Given the description of an element on the screen output the (x, y) to click on. 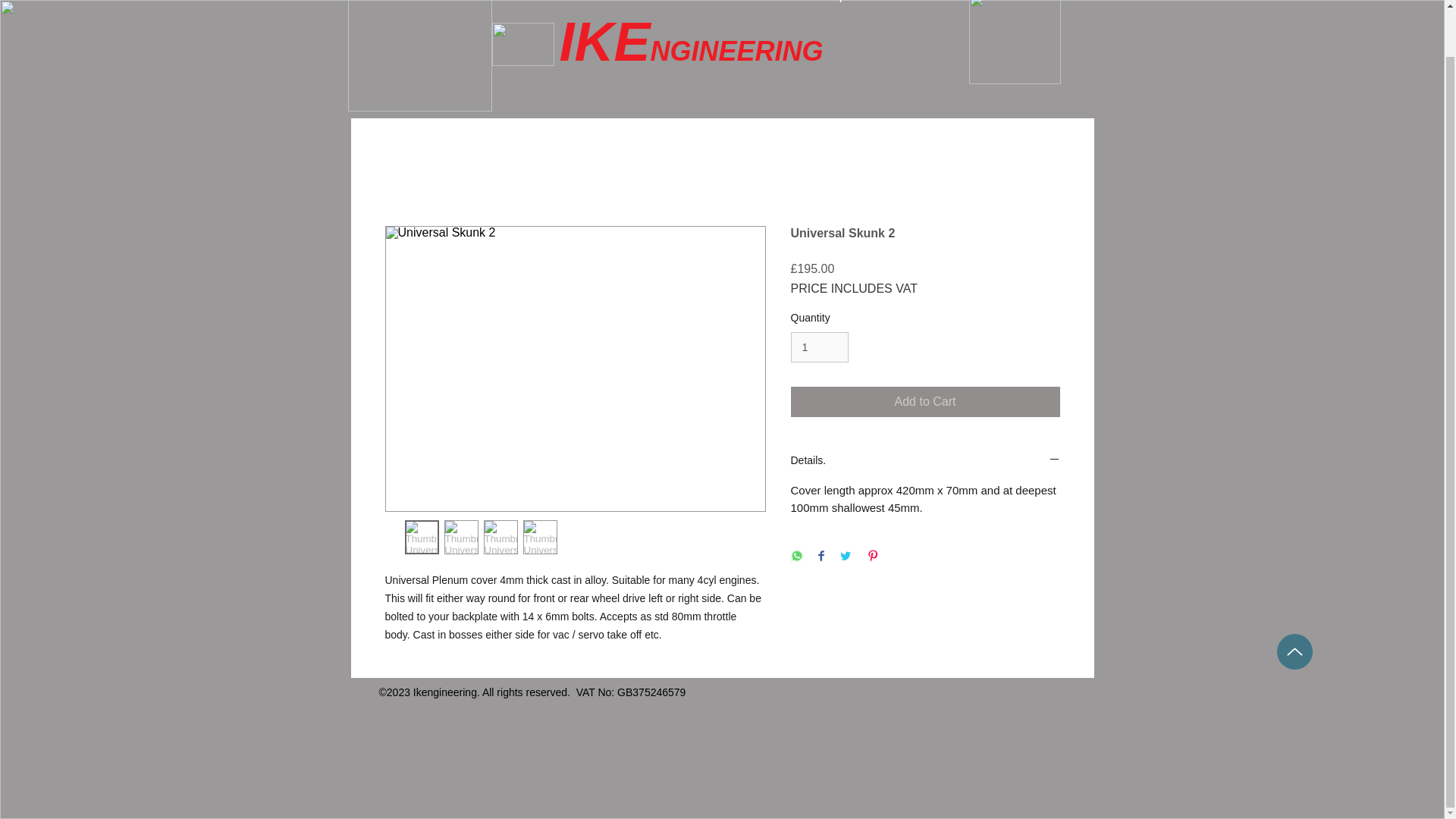
1 (818, 347)
Details. (924, 461)
About (661, 4)
PRICE INCLUDES VAT (853, 288)
Contact (920, 4)
Home (575, 4)
Add to Cart (924, 401)
Media (748, 4)
Shop (832, 4)
